Given the description of an element on the screen output the (x, y) to click on. 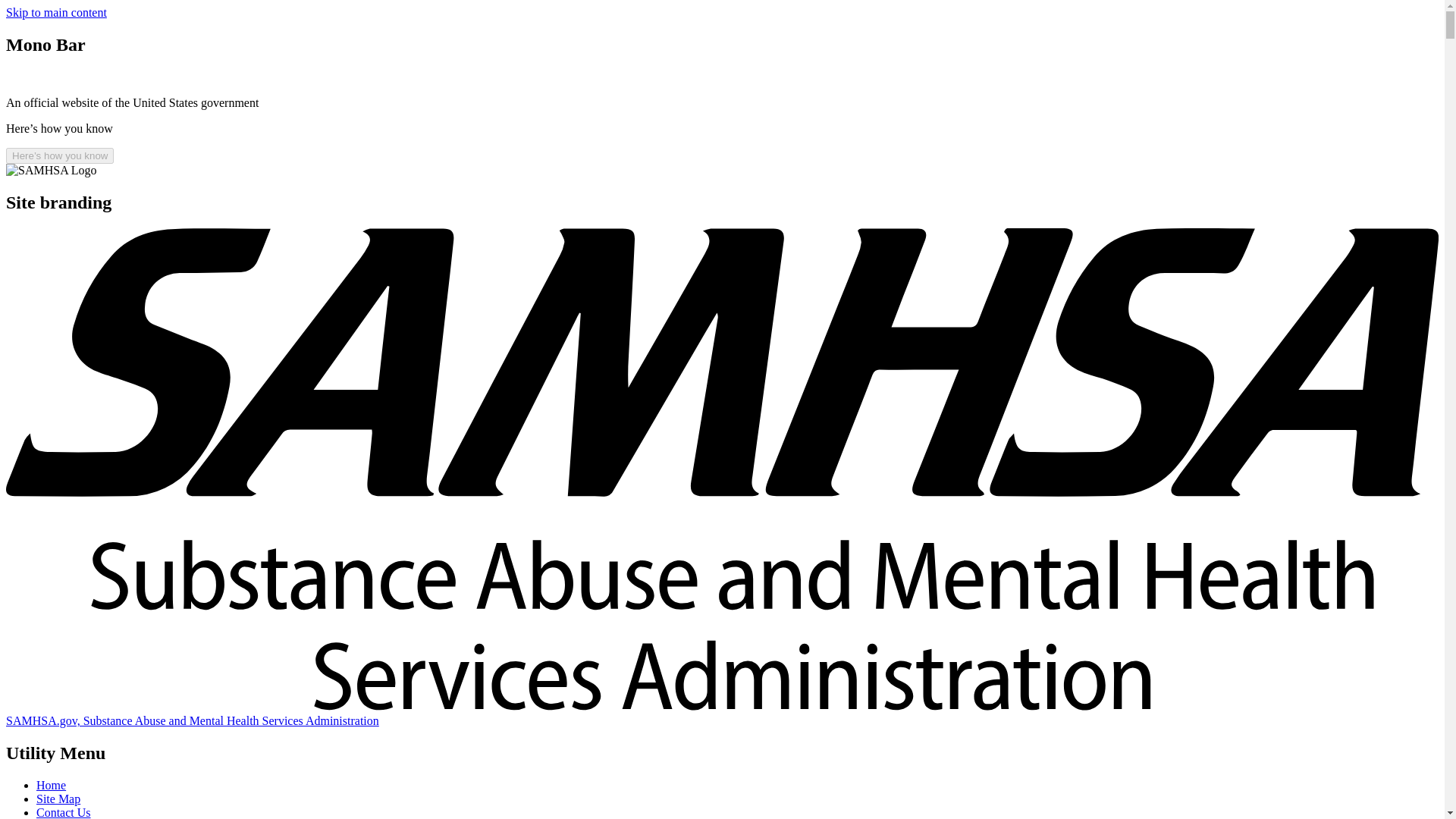
Home (50, 784)
Site Map (58, 798)
Contact Us (63, 812)
Skip to main content (55, 11)
